Given the description of an element on the screen output the (x, y) to click on. 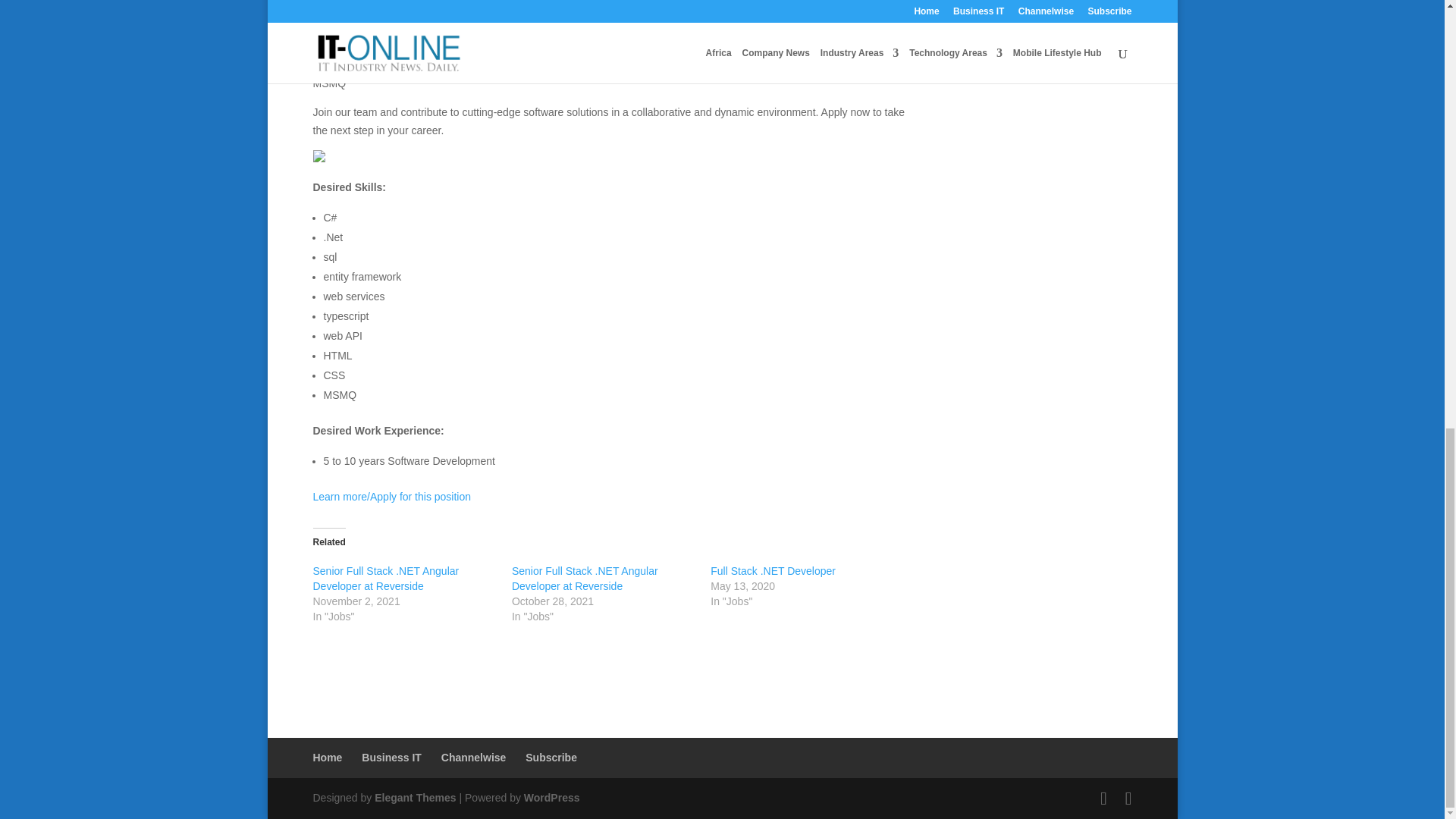
Full Stack .NET Developer (772, 571)
Premium WordPress Themes (414, 797)
Senior Full Stack .NET Angular Developer at Reverside (585, 578)
Senior Full Stack .NET Angular Developer at Reverside (385, 578)
